Given the description of an element on the screen output the (x, y) to click on. 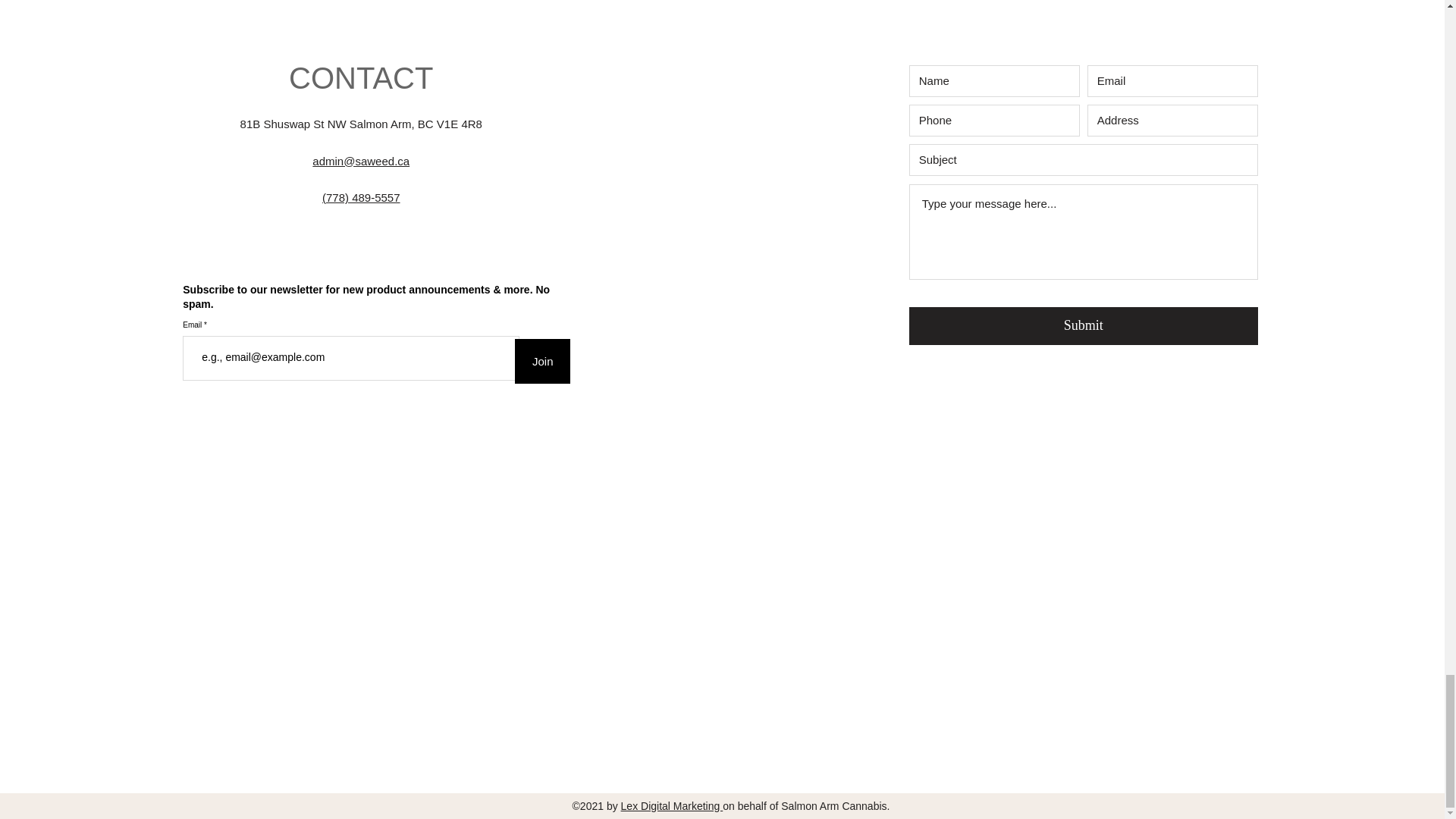
Join (542, 361)
Submit (1082, 325)
Lex Digital Marketing (672, 806)
